Given the description of an element on the screen output the (x, y) to click on. 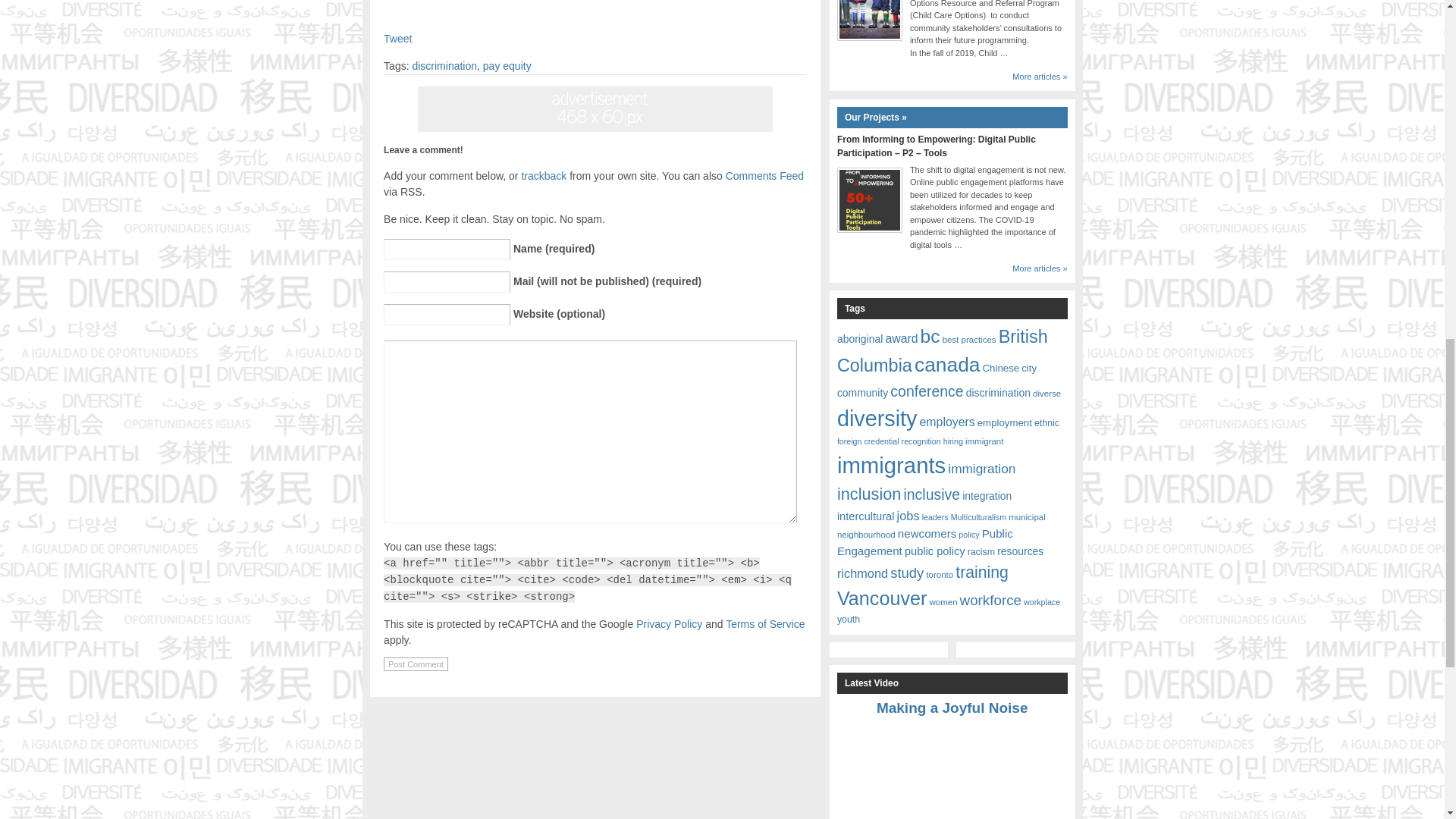
discrimination (444, 65)
Tweet (398, 38)
Post Comment (416, 663)
pay equity (507, 65)
View Post (951, 707)
